Given the description of an element on the screen output the (x, y) to click on. 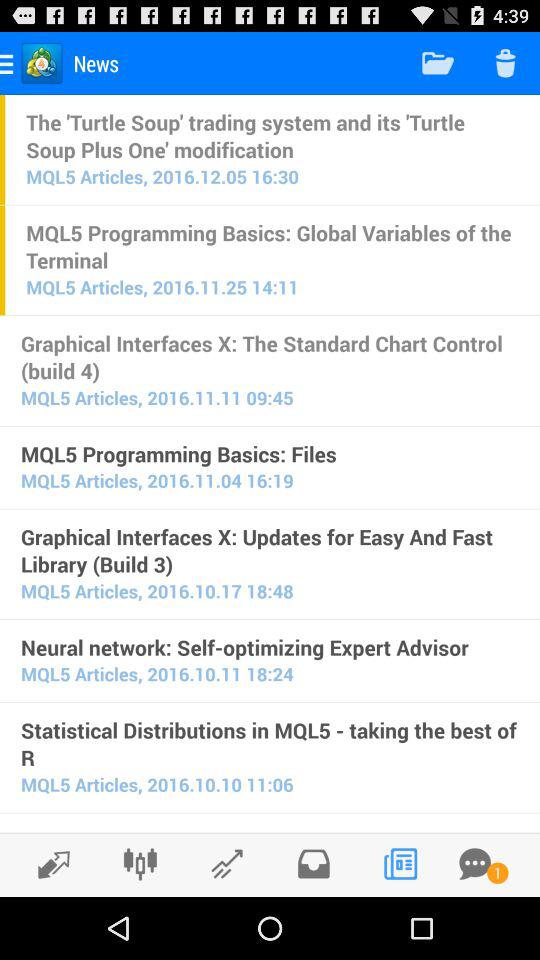
choose the item above the mql5 articles 2016 item (270, 647)
